Given the description of an element on the screen output the (x, y) to click on. 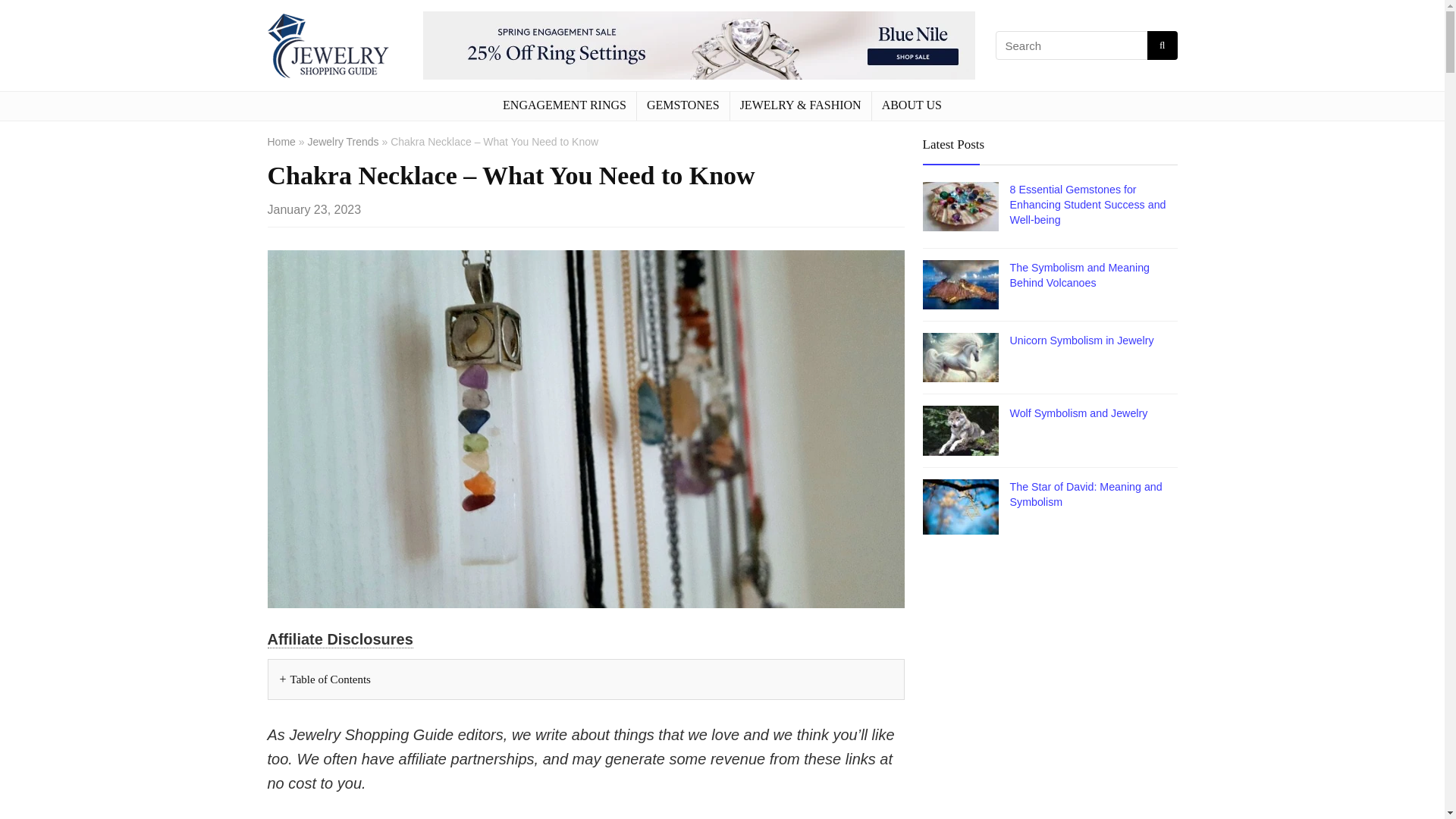
ABOUT US (912, 105)
Jewelry Trends (342, 141)
GEMSTONES (683, 105)
ENGAGEMENT RINGS (564, 105)
Home (280, 141)
JamesAllen Engagement Rings (699, 45)
